Given the description of an element on the screen output the (x, y) to click on. 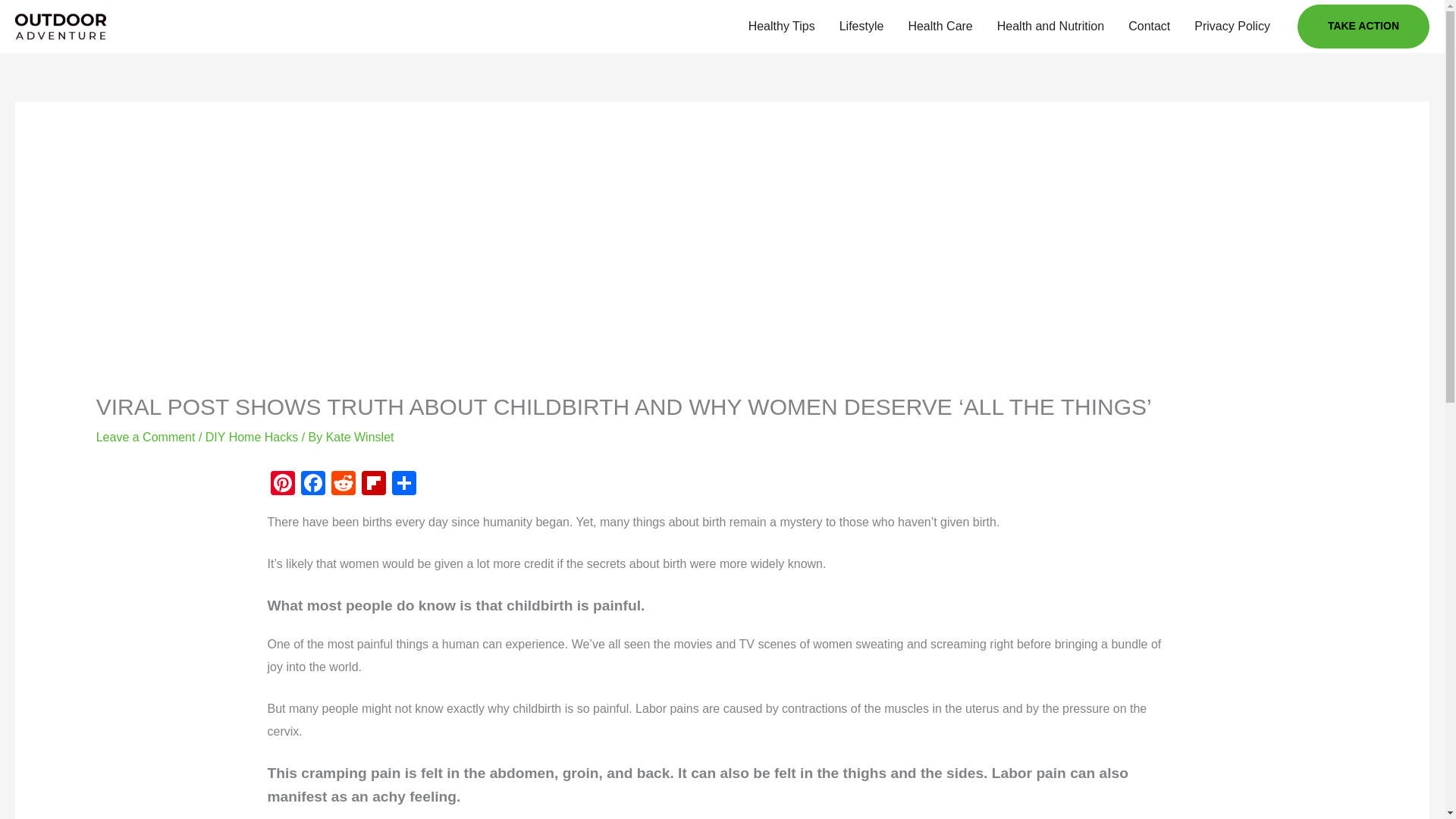
Reddit (342, 484)
Kate Winslet (360, 436)
Reddit (342, 484)
Contact (1149, 26)
Pinterest (281, 484)
Privacy Policy (1232, 26)
DIY Home Hacks (251, 436)
Flipboard (373, 484)
Facebook (312, 484)
Flipboard (373, 484)
